Given the description of an element on the screen output the (x, y) to click on. 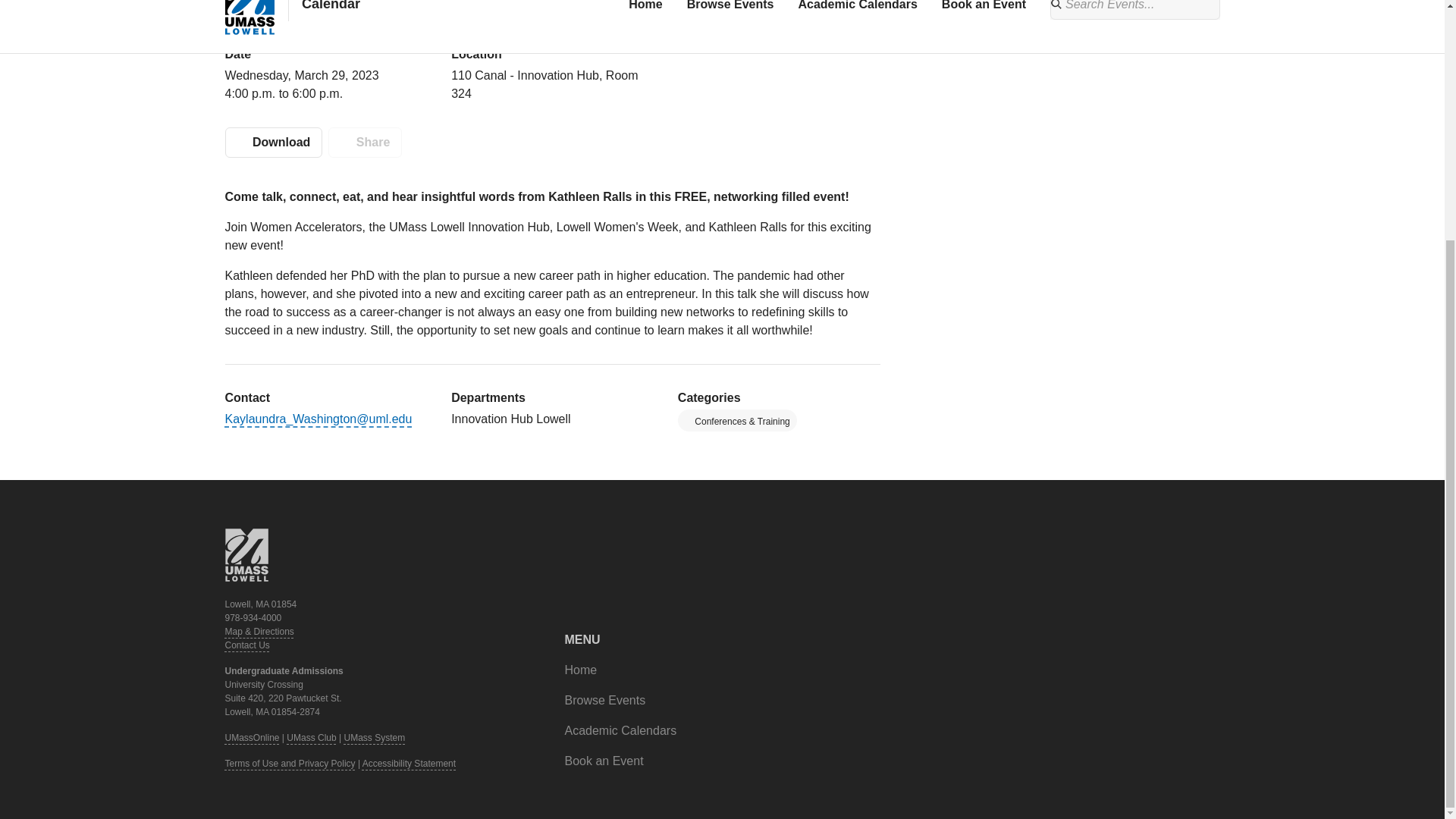
Interactive Map and Directions (259, 631)
Contact Us (246, 644)
Browse Events (604, 700)
Academic Calendars (620, 730)
Download Event (272, 142)
question (246, 644)
Share (365, 142)
UMass Club (311, 737)
Home (580, 669)
Book an Event (603, 761)
